Given the description of an element on the screen output the (x, y) to click on. 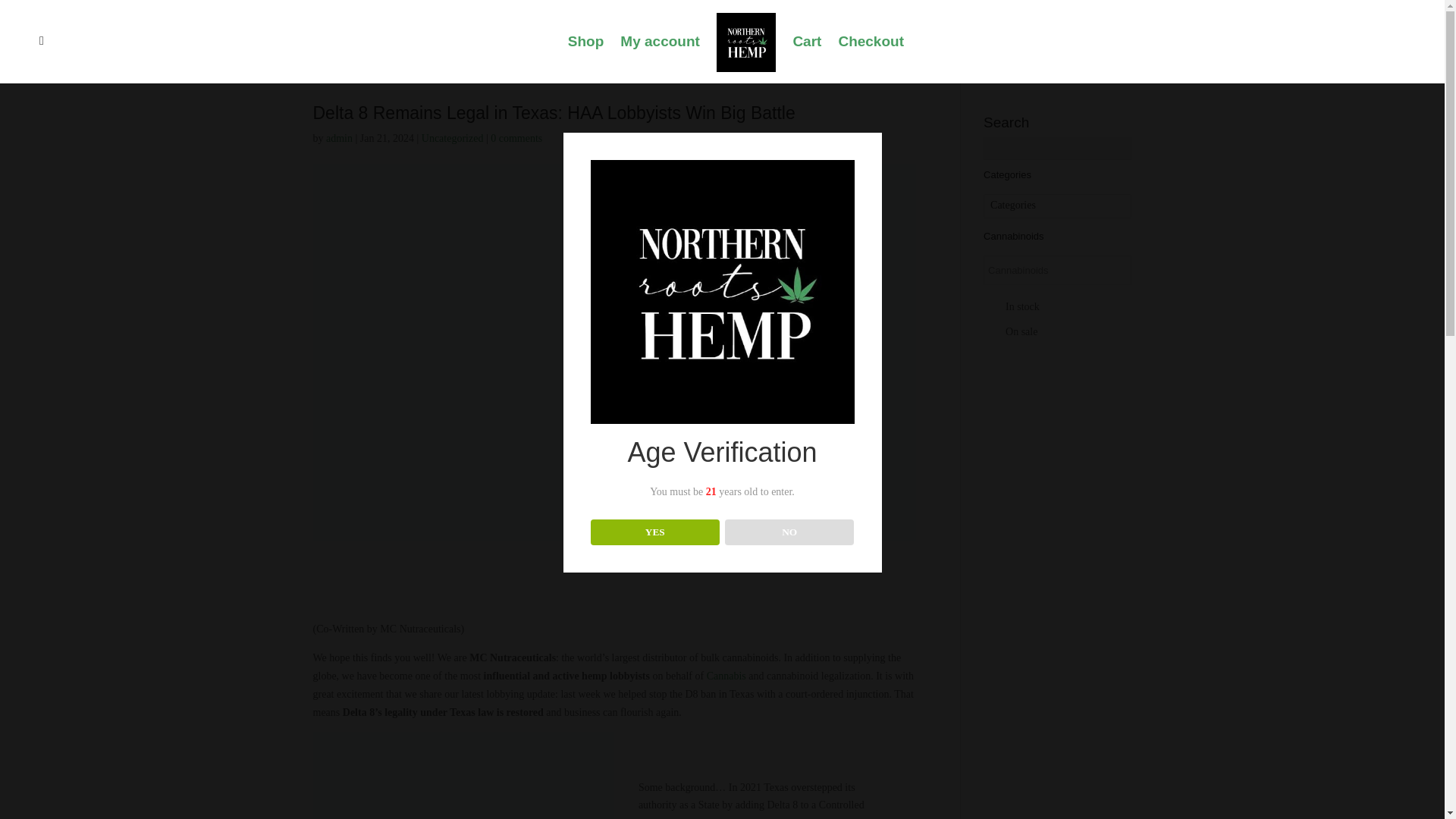
Posts by admin (339, 138)
NO (789, 532)
Cannabinoids (1027, 270)
Categories (1057, 206)
Checkout (871, 59)
YES (655, 532)
admin (339, 138)
Cannabinoids (1027, 270)
Cannabis (725, 675)
Uncategorized (452, 138)
My account (660, 59)
0 comments (515, 138)
